Given the description of an element on the screen output the (x, y) to click on. 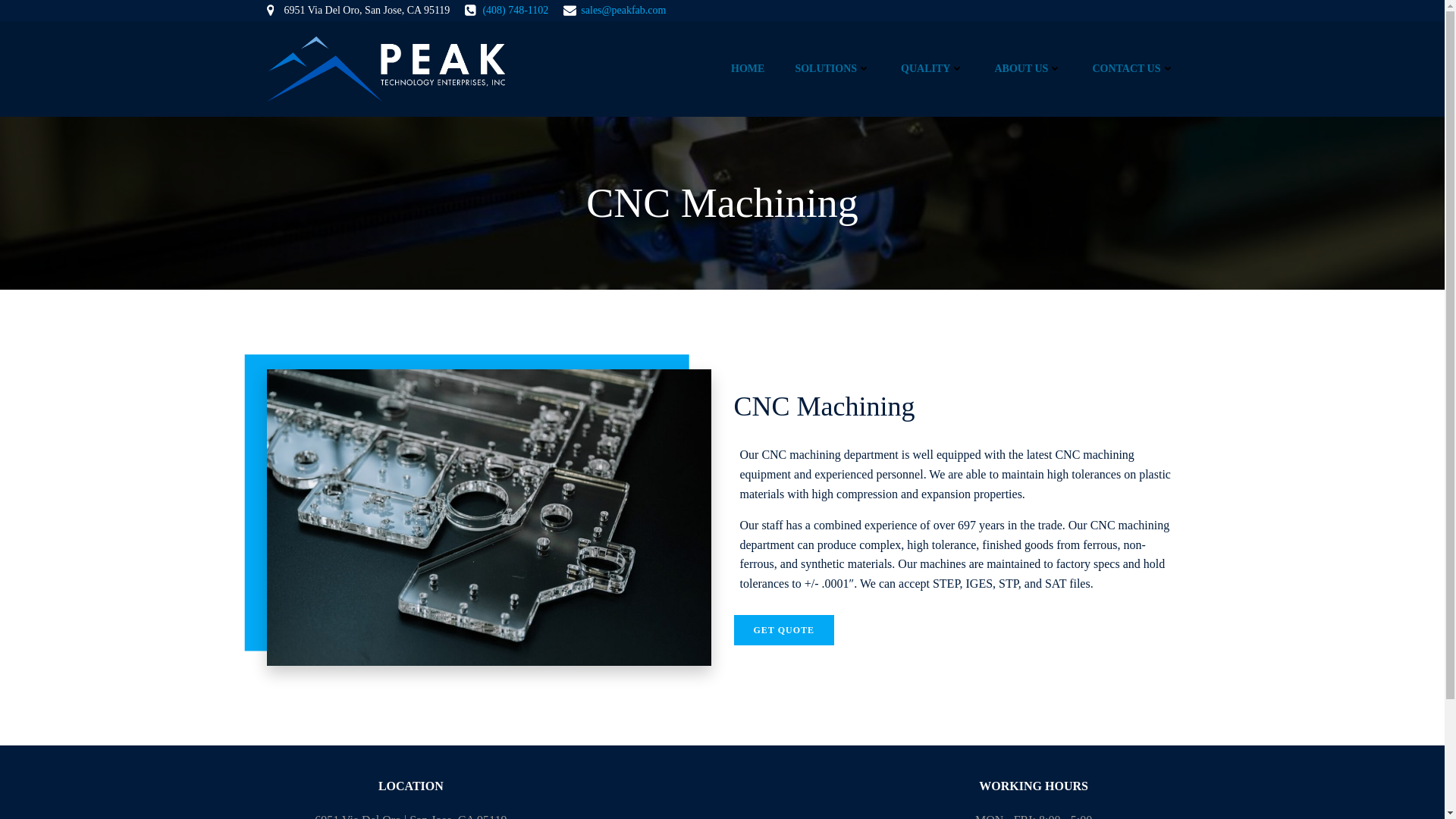
GET QUOTE (783, 630)
CONTACT US (1132, 68)
SOLUTIONS (832, 68)
HOME (747, 68)
ABOUT US (1027, 68)
QUALITY (932, 68)
